Given the description of an element on the screen output the (x, y) to click on. 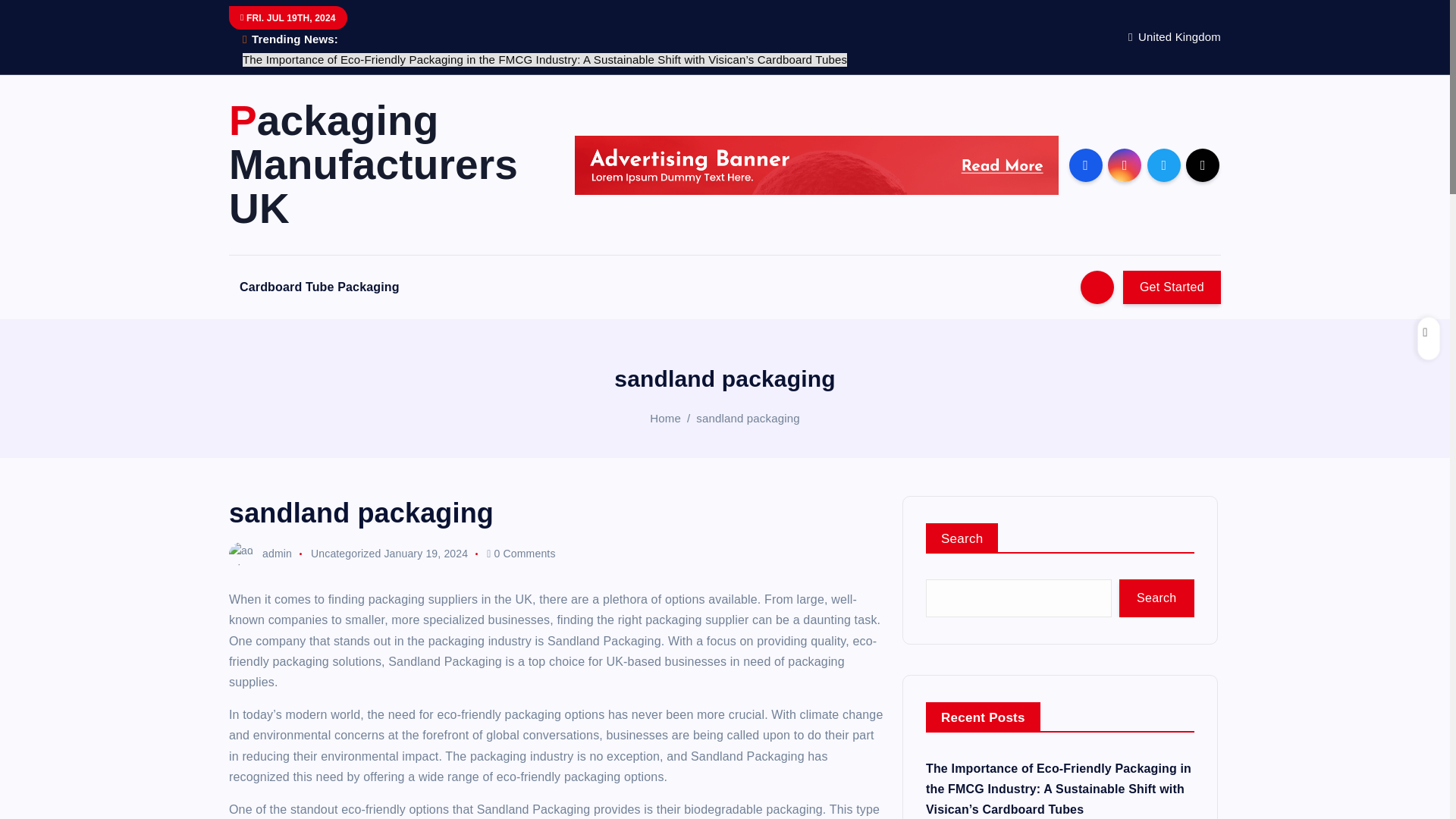
Uncategorized (345, 553)
sandland packaging (747, 418)
Get Started (1171, 287)
Cardboard Tube Packaging (319, 287)
Home (665, 418)
admin (260, 553)
Cardboard Tube Packaging (319, 287)
Search (1156, 598)
Packaging Manufacturers UK (387, 164)
